Given the description of an element on the screen output the (x, y) to click on. 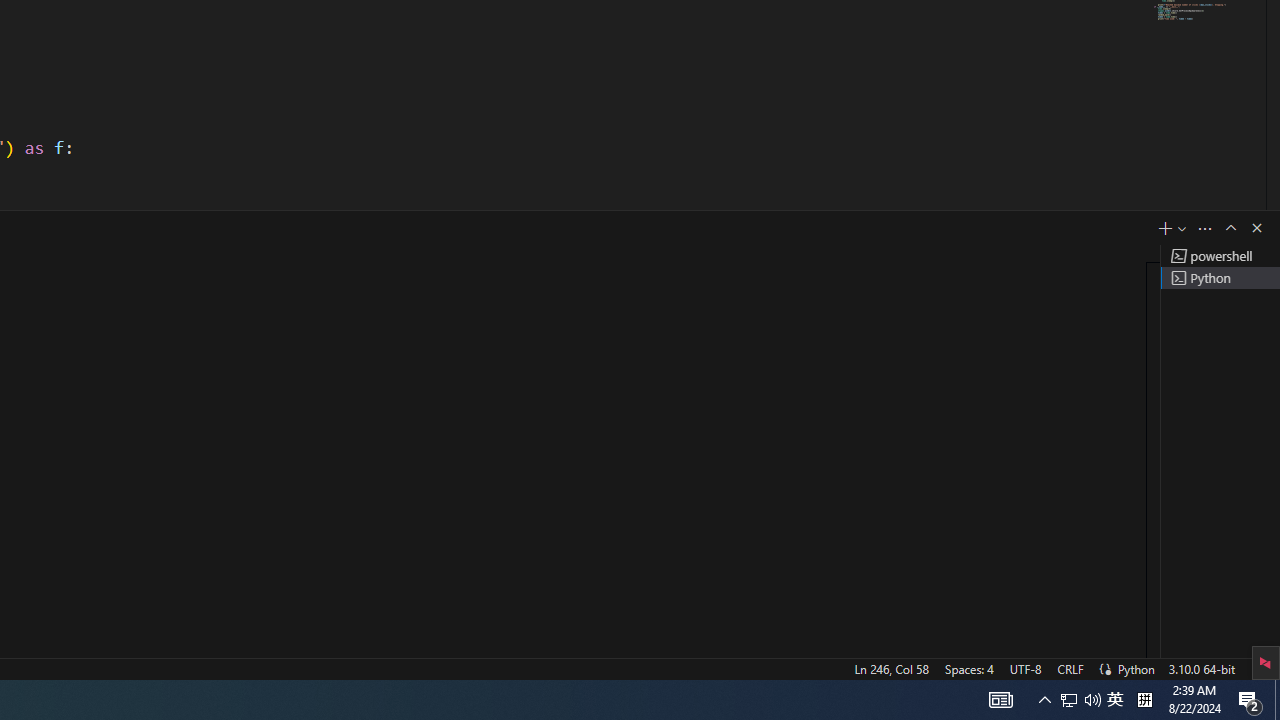
Hide Panel (1256, 227)
